Given the description of an element on the screen output the (x, y) to click on. 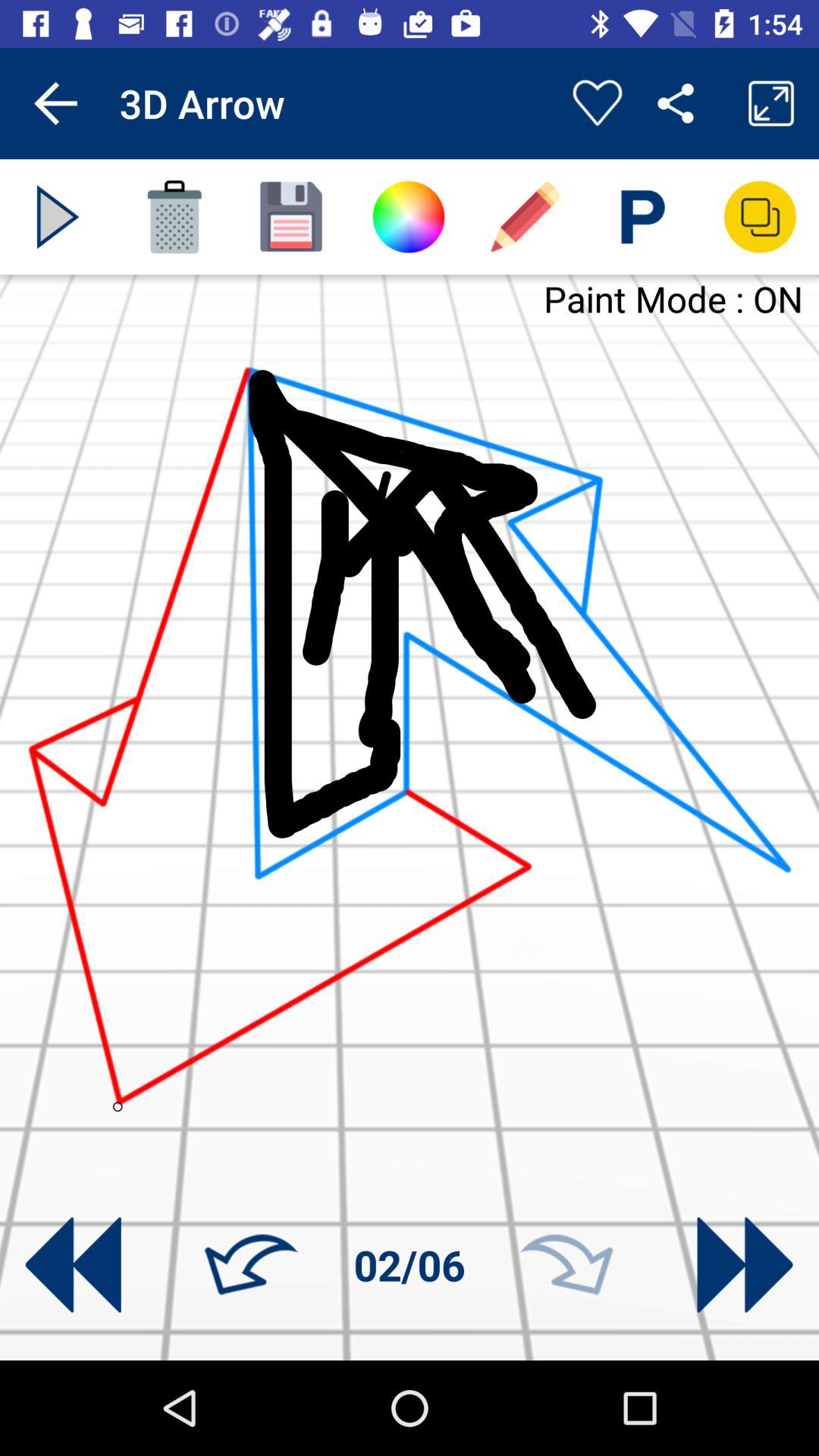
select delete icon (174, 216)
